Given the description of an element on the screen output the (x, y) to click on. 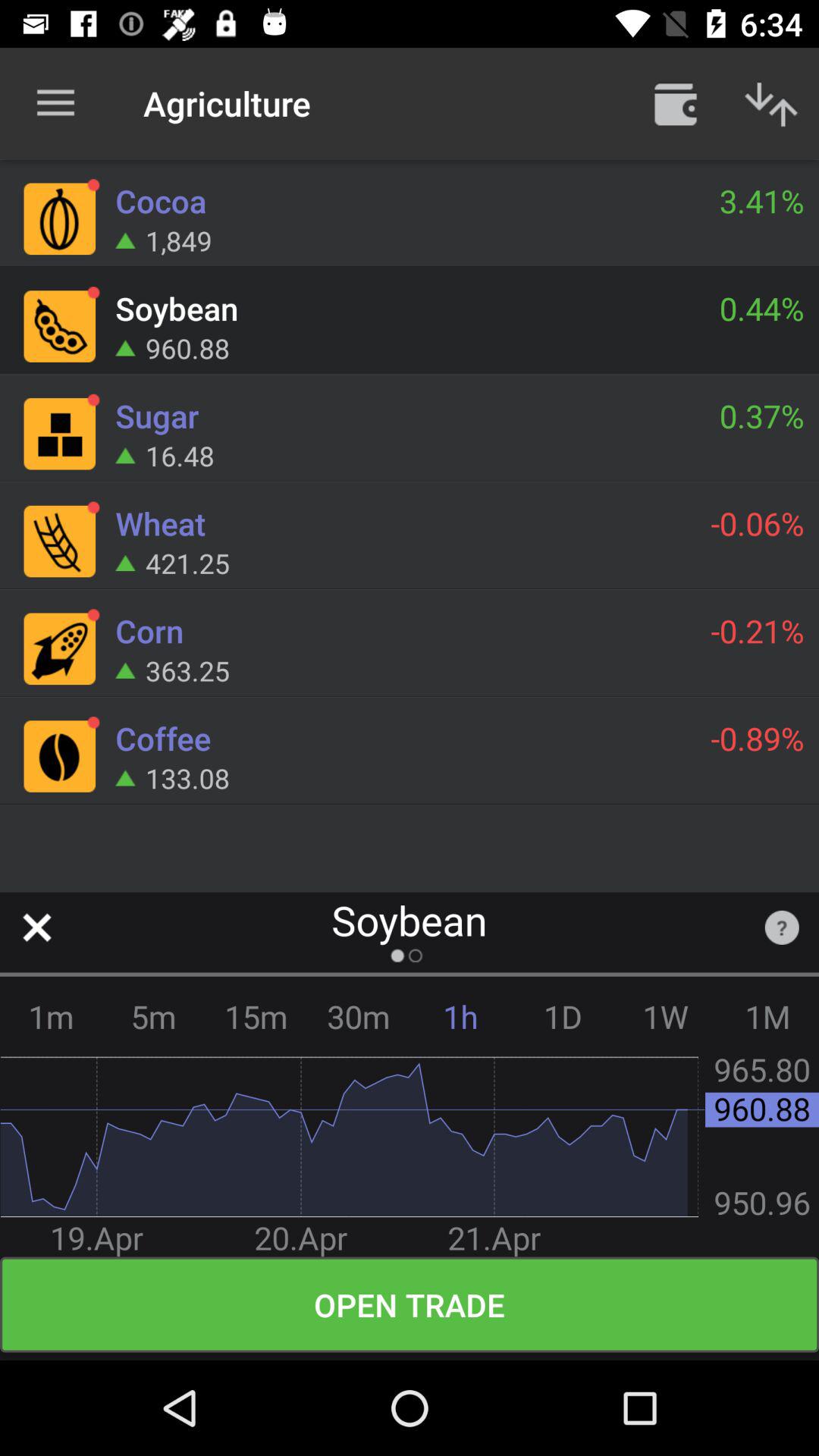
help icon (781, 927)
